Given the description of an element on the screen output the (x, y) to click on. 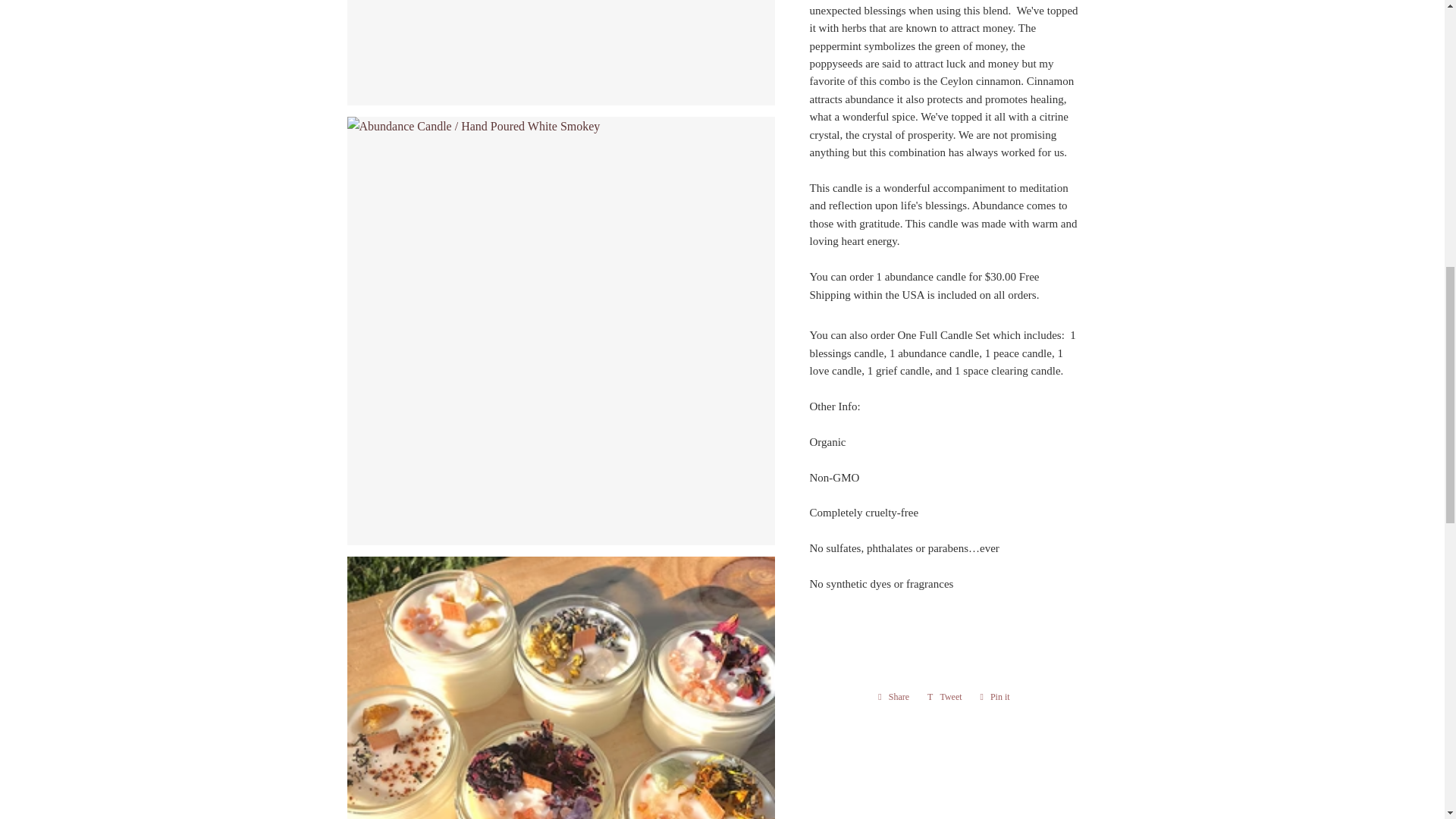
Pin on Pinterest (994, 696)
Share on Facebook (893, 696)
Tweet on Twitter (944, 696)
